Given the description of an element on the screen output the (x, y) to click on. 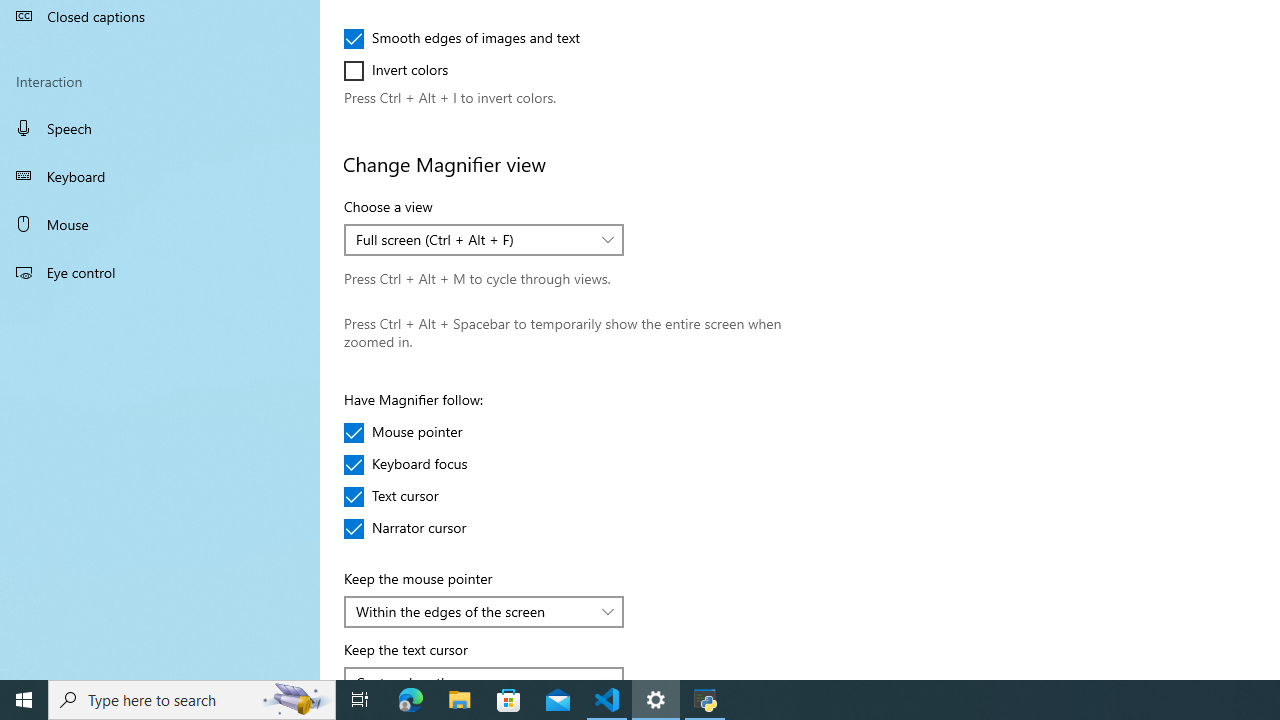
Within the edges of the screen (473, 610)
Speech (160, 127)
Mouse pointer (403, 432)
Choose a view (484, 239)
Centered on the screen (473, 676)
Keep the mouse pointer (484, 611)
Keyboard (160, 175)
Keep the text cursor (484, 672)
